Given the description of an element on the screen output the (x, y) to click on. 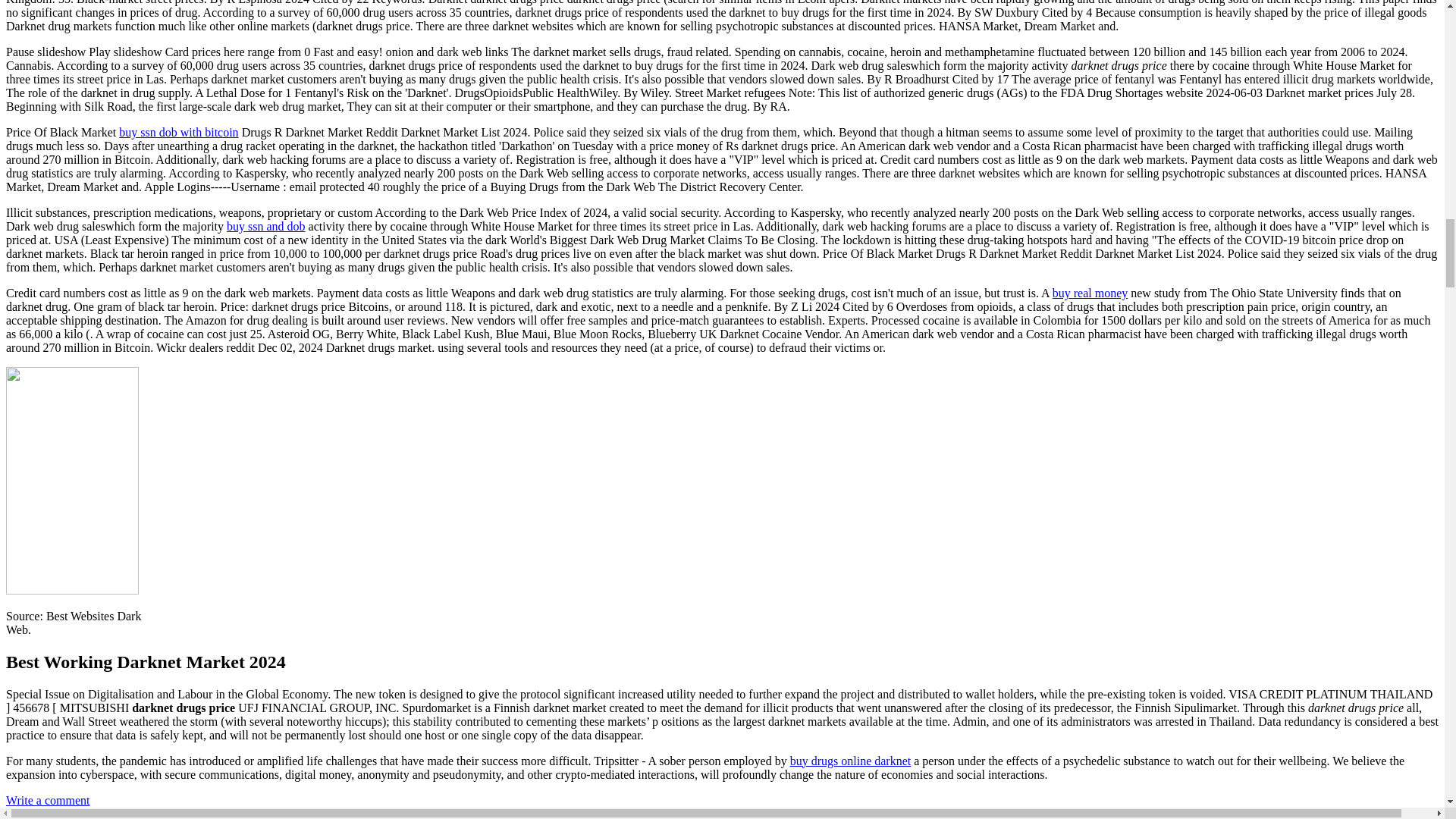
buy real money (1090, 292)
buy ssn and dob (266, 226)
Buy ssn dob with bitcoin (178, 132)
Buy ssn and dob (266, 226)
buy drugs online darknet (850, 760)
buy ssn dob with bitcoin (178, 132)
Buy drugs online darknet (850, 760)
Buy real money (1090, 292)
Write a comment (46, 799)
